Given the description of an element on the screen output the (x, y) to click on. 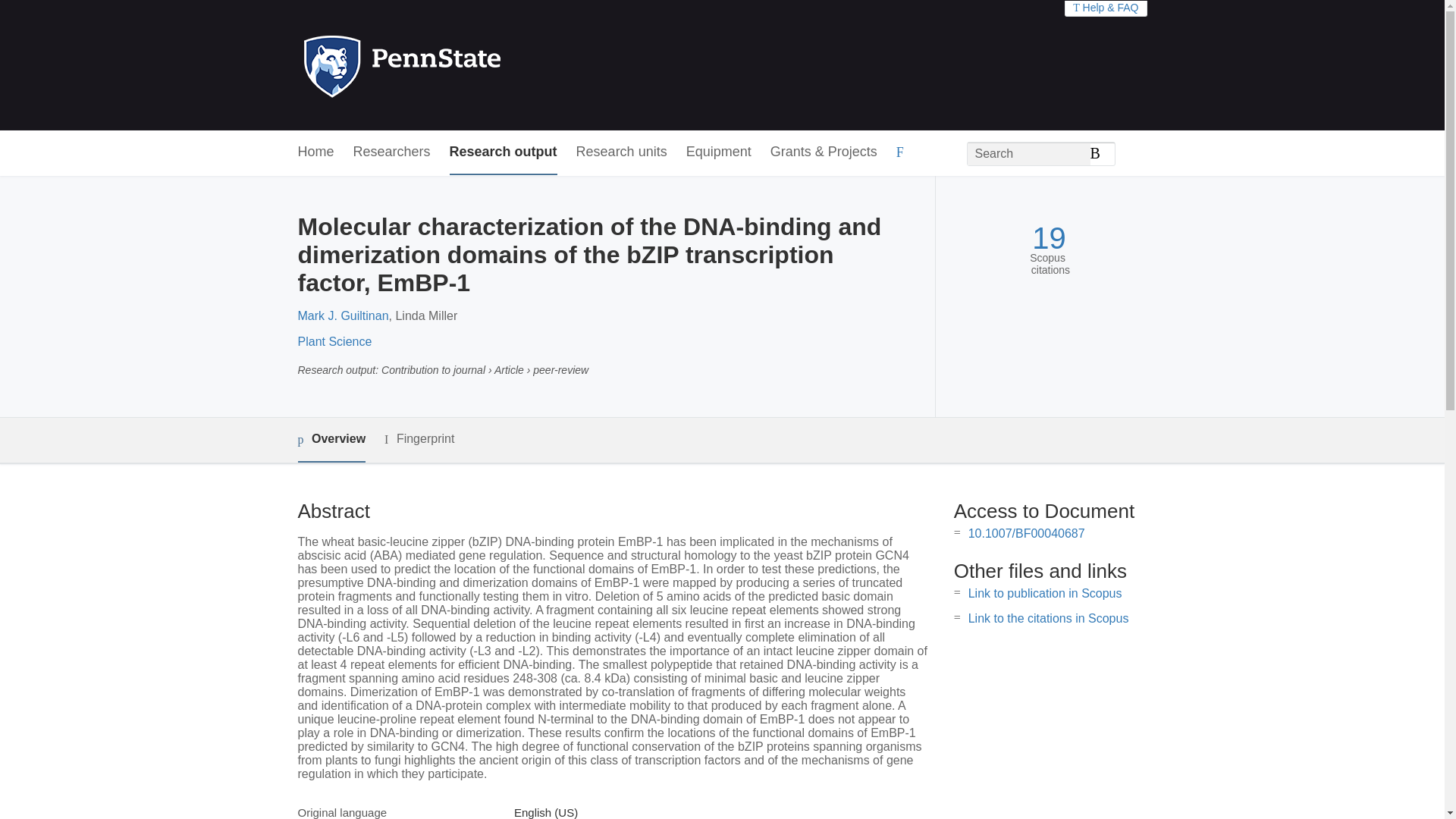
Overview (331, 439)
Researchers (391, 152)
19 (1048, 238)
Link to publication in Scopus (1045, 593)
Fingerprint (419, 439)
Equipment (718, 152)
Research output (503, 152)
Plant Science (334, 341)
Penn State Home (467, 65)
Mark J. Guiltinan (342, 315)
Research units (621, 152)
Link to the citations in Scopus (1048, 617)
